Given the description of an element on the screen output the (x, y) to click on. 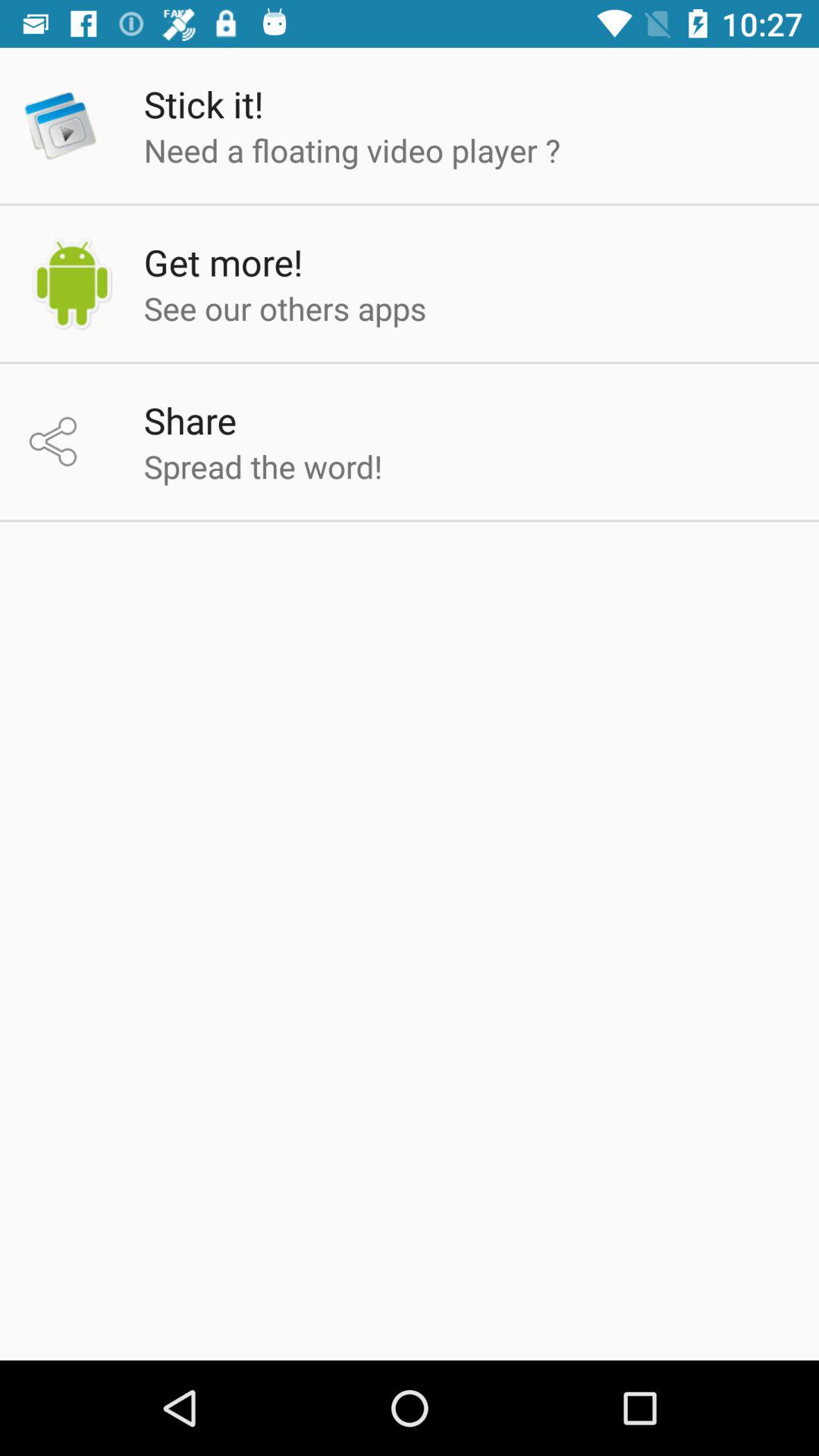
turn off the icon above share (284, 307)
